Given the description of an element on the screen output the (x, y) to click on. 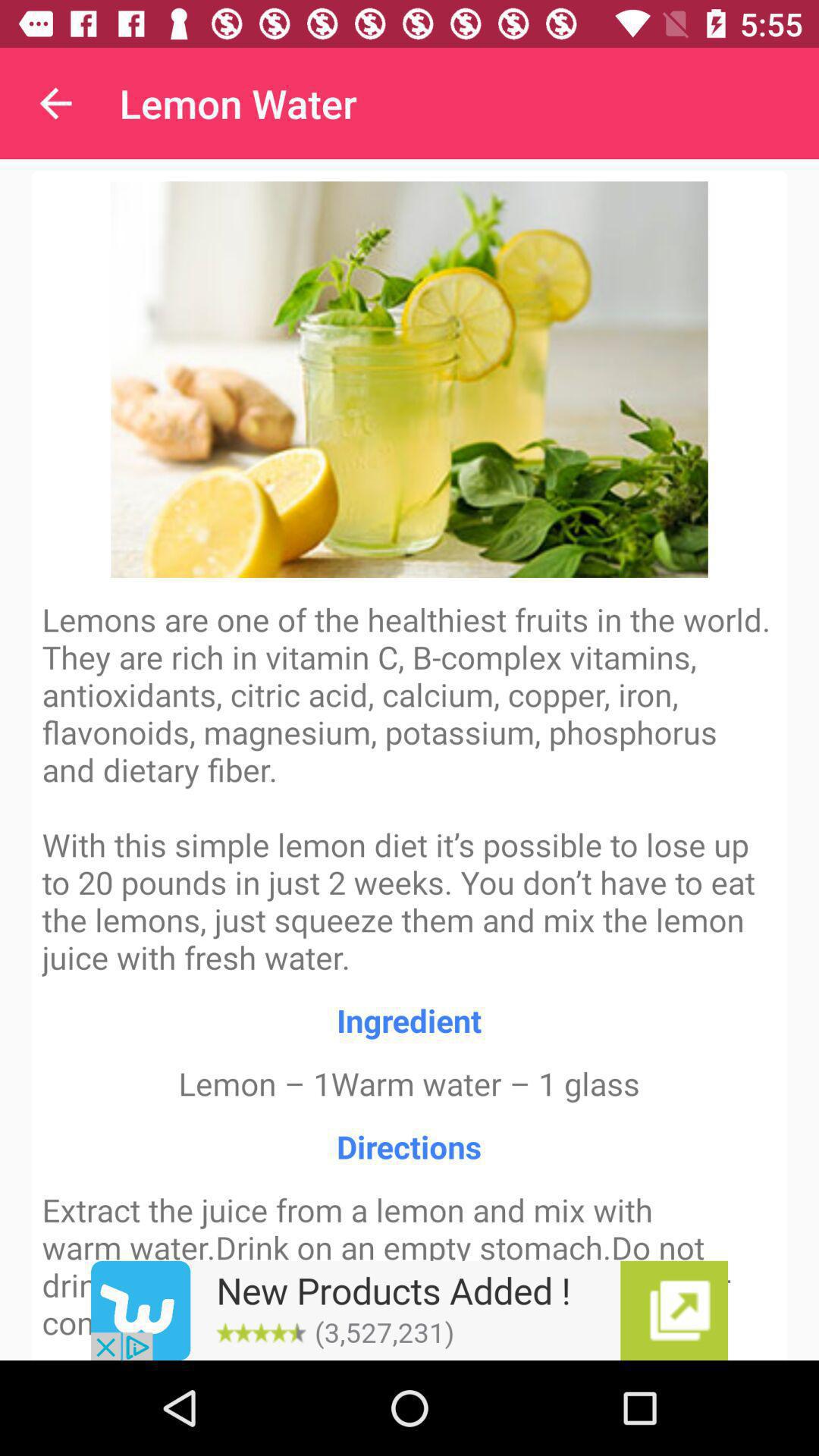
download wish (409, 1310)
